Given the description of an element on the screen output the (x, y) to click on. 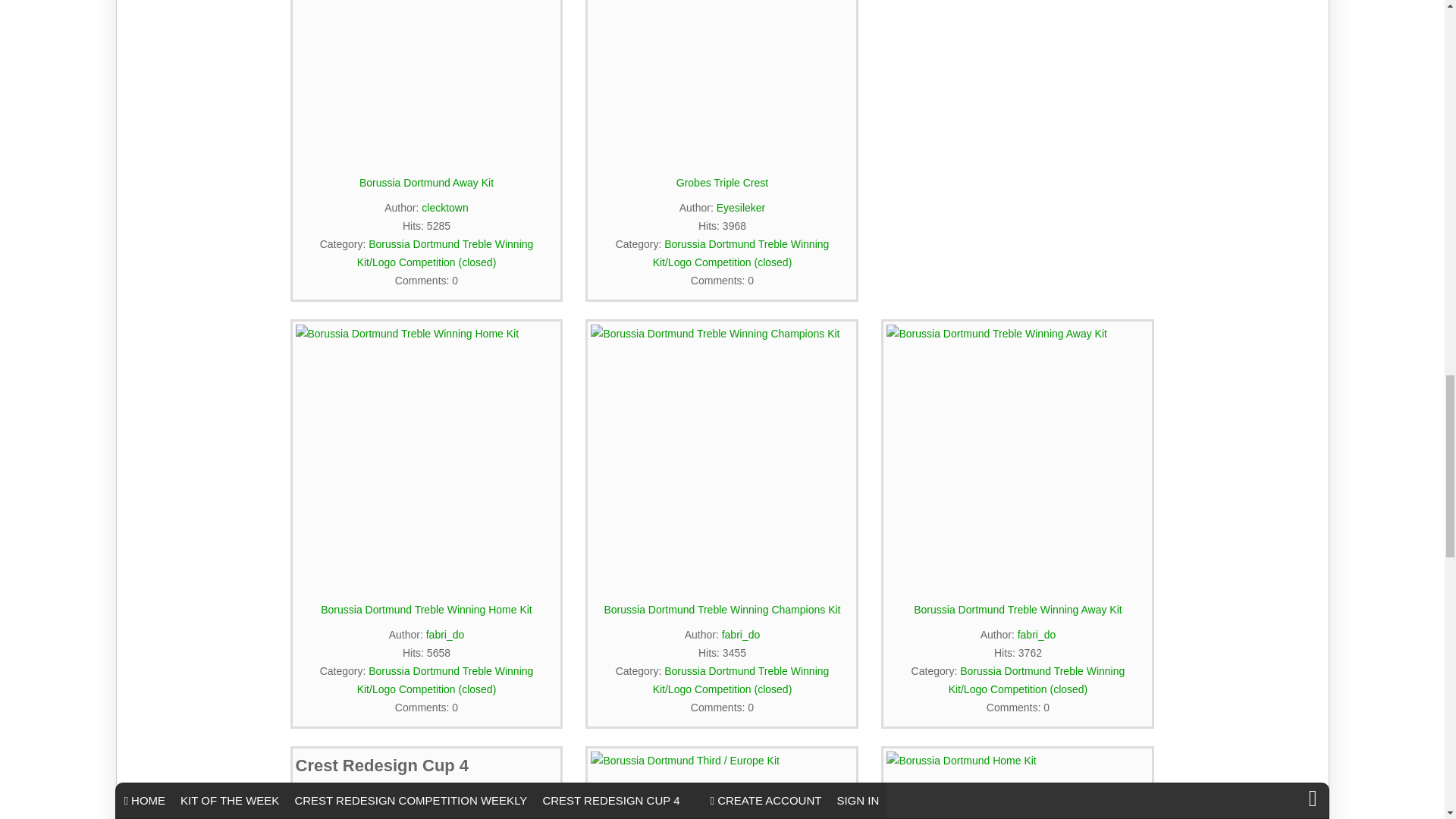
Borussia Dortmund Treble Winning Champions Kit (722, 455)
Eyesileker (740, 207)
Borussia Dortmund Away Kit (426, 80)
Borussia Dortmund Treble Winning Away Kit (1017, 455)
Borussia Dortmund Treble Winning Home Kit (426, 455)
Grobes Triple Crest  (722, 80)
clecktown (444, 207)
